Given the description of an element on the screen output the (x, y) to click on. 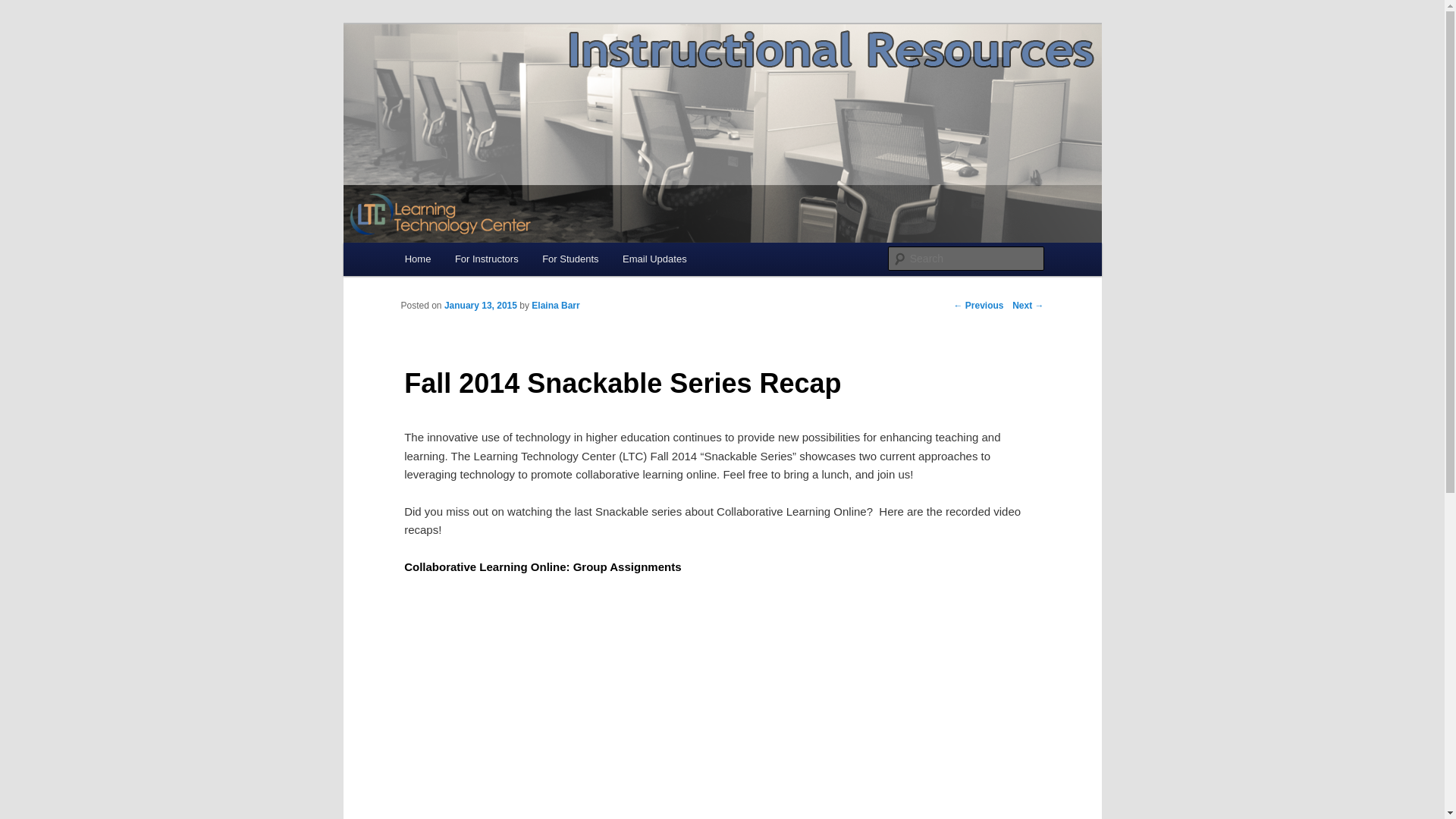
January 13, 2015 (480, 305)
For Instructors (485, 258)
3:28 pm (480, 305)
LTC Instructional Resources (553, 78)
Elaina Barr (555, 305)
Search (24, 8)
Skip to primary content (80, 31)
View all posts by Elaina Barr (555, 305)
Email Updates (654, 258)
For Students (569, 258)
Home (417, 258)
